Given the description of an element on the screen output the (x, y) to click on. 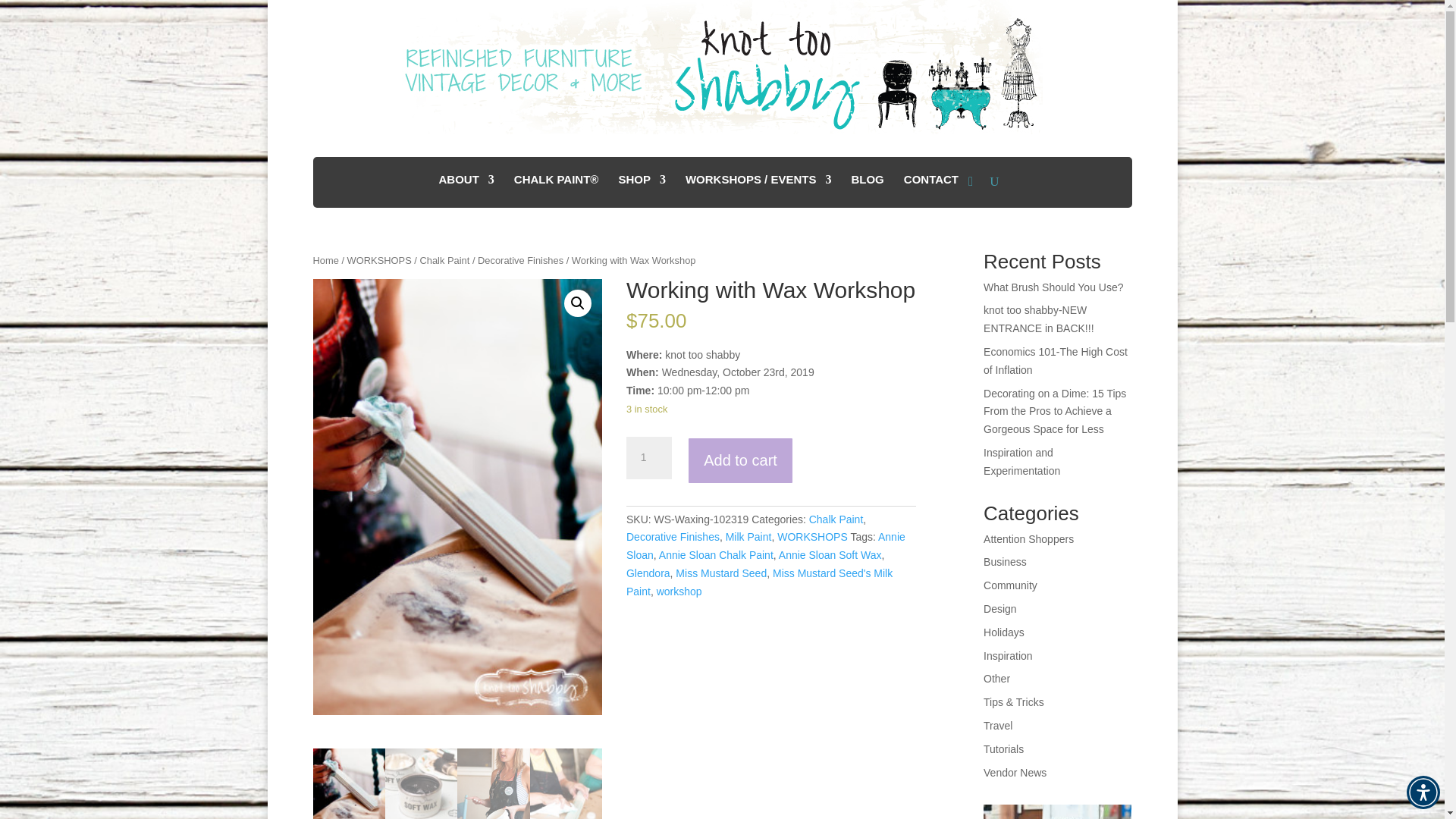
CONTACT (931, 185)
KnotTooShabby-mobilelogo (721, 67)
BLOG (866, 185)
ABOUT (465, 185)
SHOP (641, 185)
Accessibility Menu (1422, 792)
1 (648, 457)
